Given the description of an element on the screen output the (x, y) to click on. 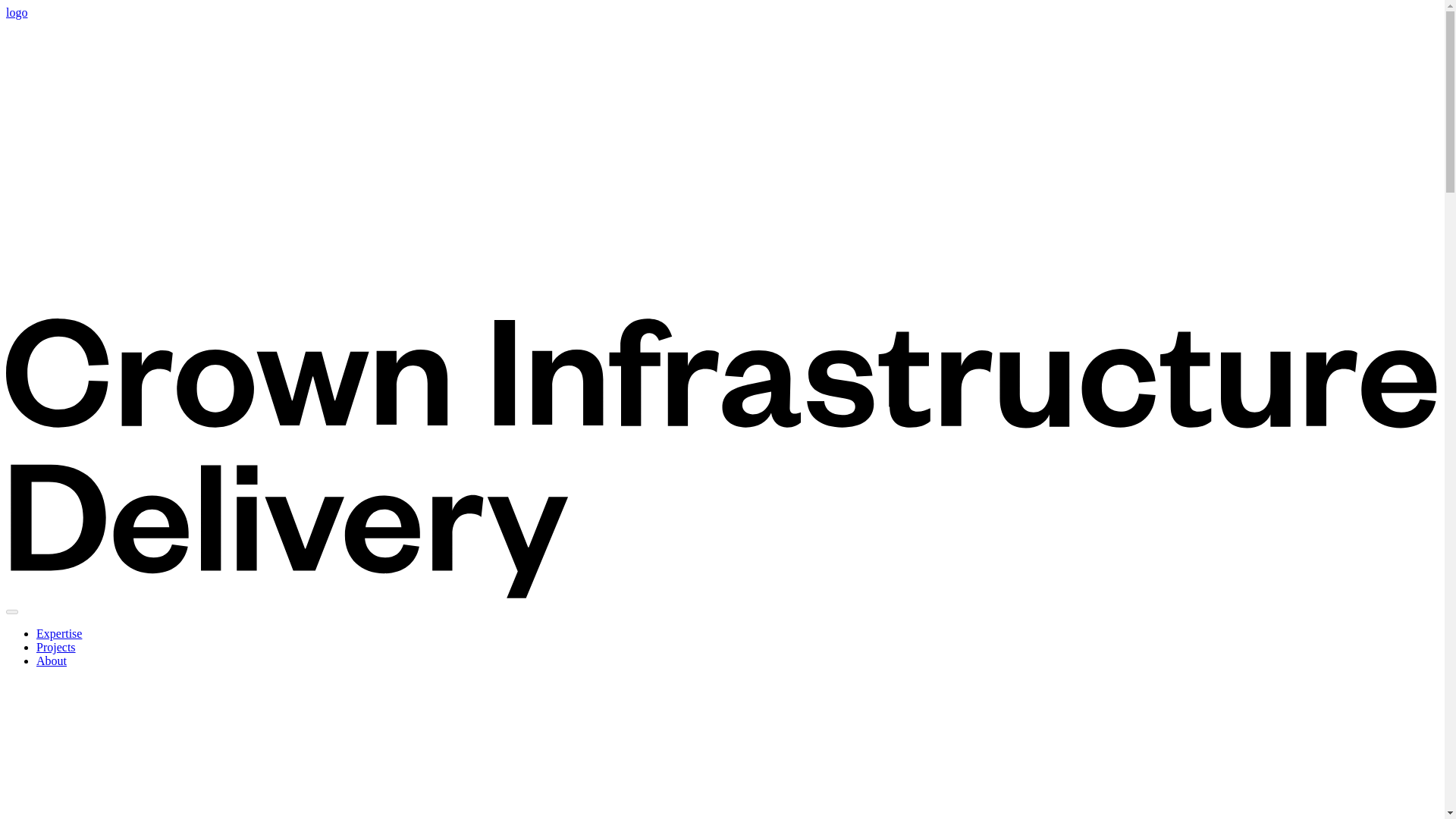
Projects (55, 646)
Expertise (58, 633)
About (51, 660)
